Given the description of an element on the screen output the (x, y) to click on. 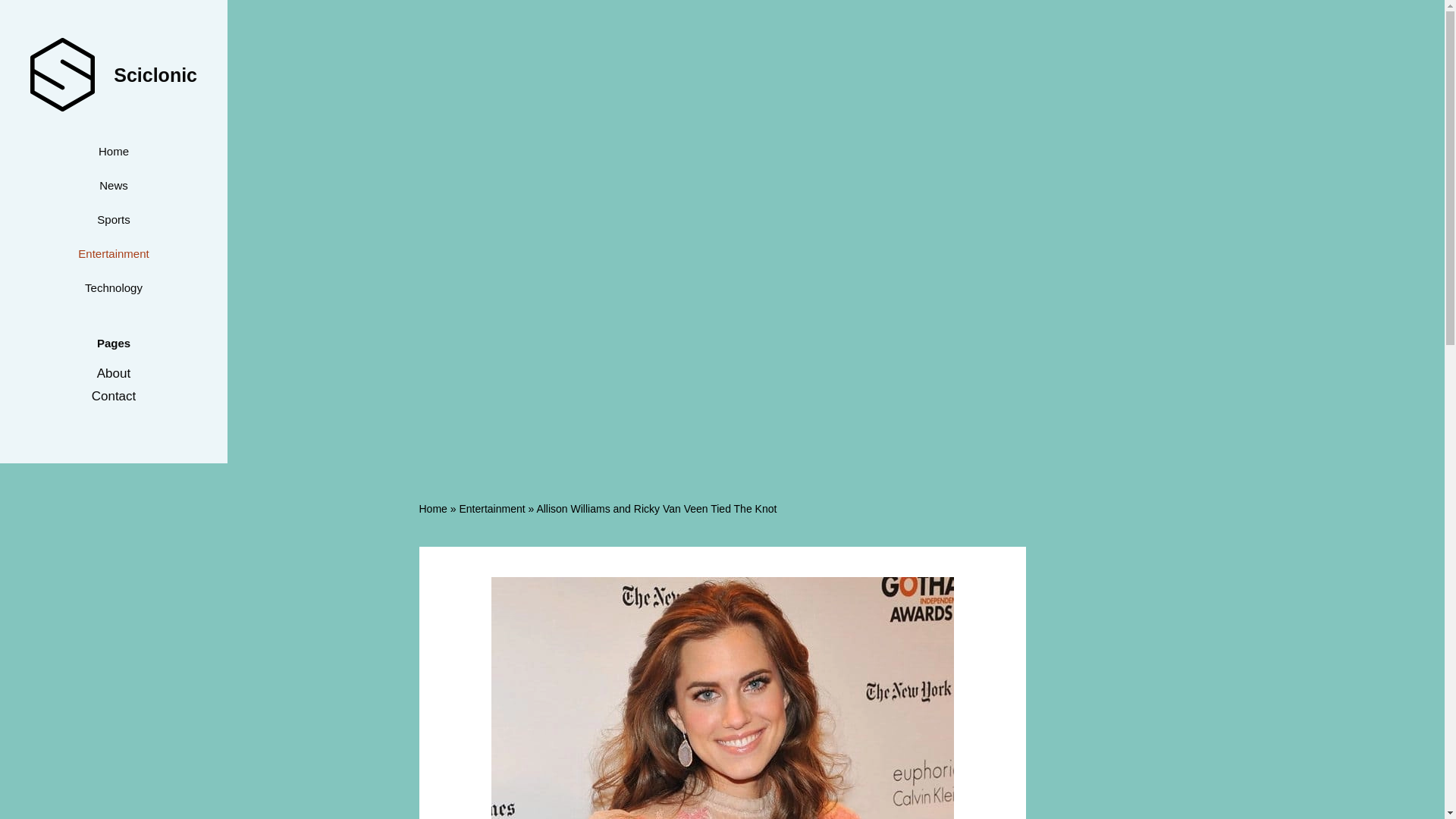
Entertainment (491, 508)
Entertainment (112, 253)
About (114, 373)
Contact (113, 396)
Sciclonic (154, 74)
News (112, 185)
Home (432, 508)
Home (112, 151)
Technology (112, 287)
Sports (112, 219)
